Given the description of an element on the screen output the (x, y) to click on. 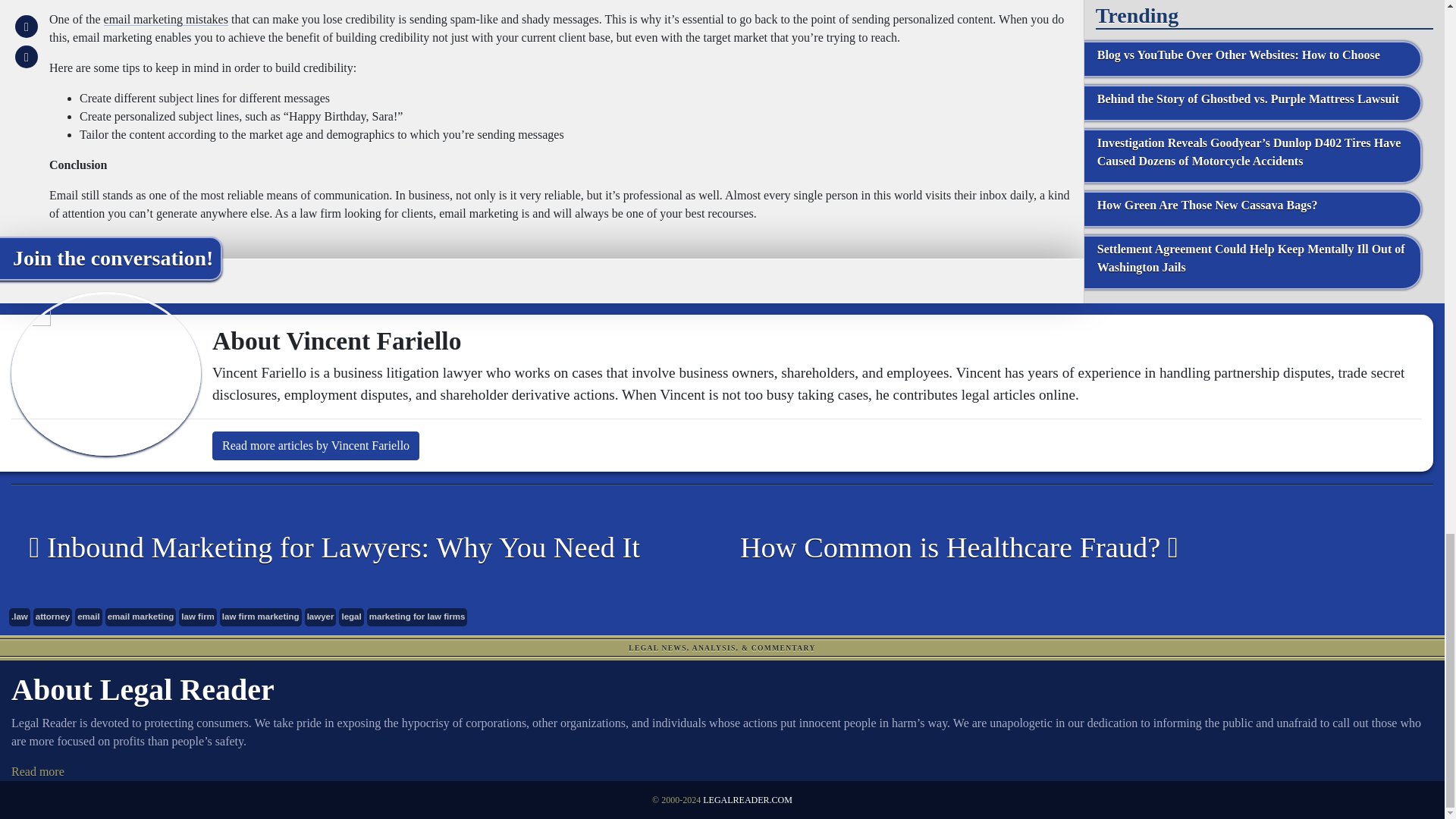
Read more articles by Vincent Fariello (315, 445)
Read more articles by Vincent Fariello (315, 445)
email marketing mistakes (165, 19)
law firm marketing (260, 616)
 Inbound Marketing for Lawyers: Why You Need It (355, 548)
email (88, 616)
attorney (52, 616)
law firm (197, 616)
How Common is Healthcare Fraud?  (1066, 548)
email marketing (140, 616)
lawyer (320, 616)
.law (19, 616)
